Given the description of an element on the screen output the (x, y) to click on. 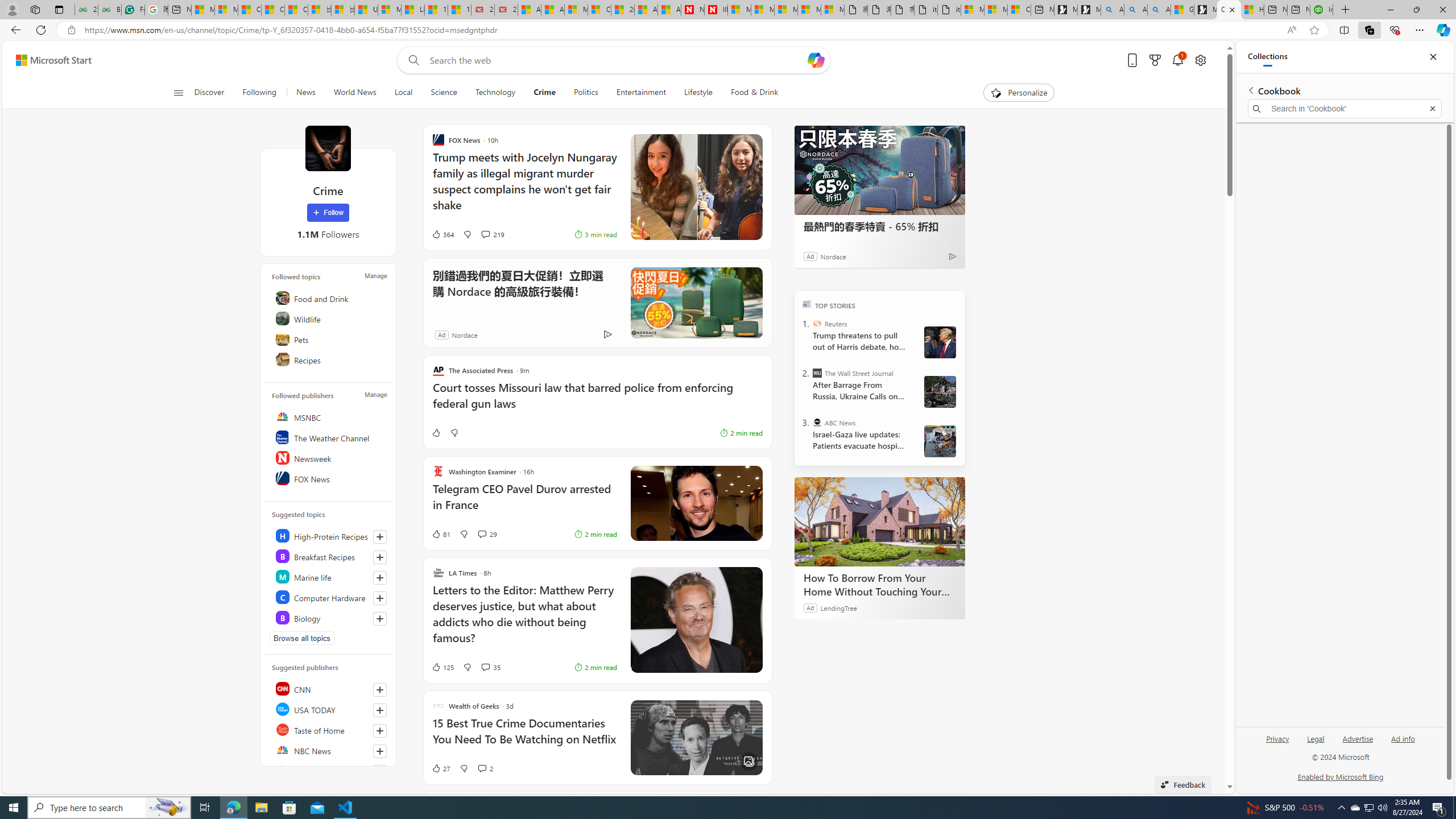
Intuit QuickBooks Online - Quickbooks (1321, 9)
View comments 2 Comment (485, 768)
MSNBC (328, 416)
